Given the description of an element on the screen output the (x, y) to click on. 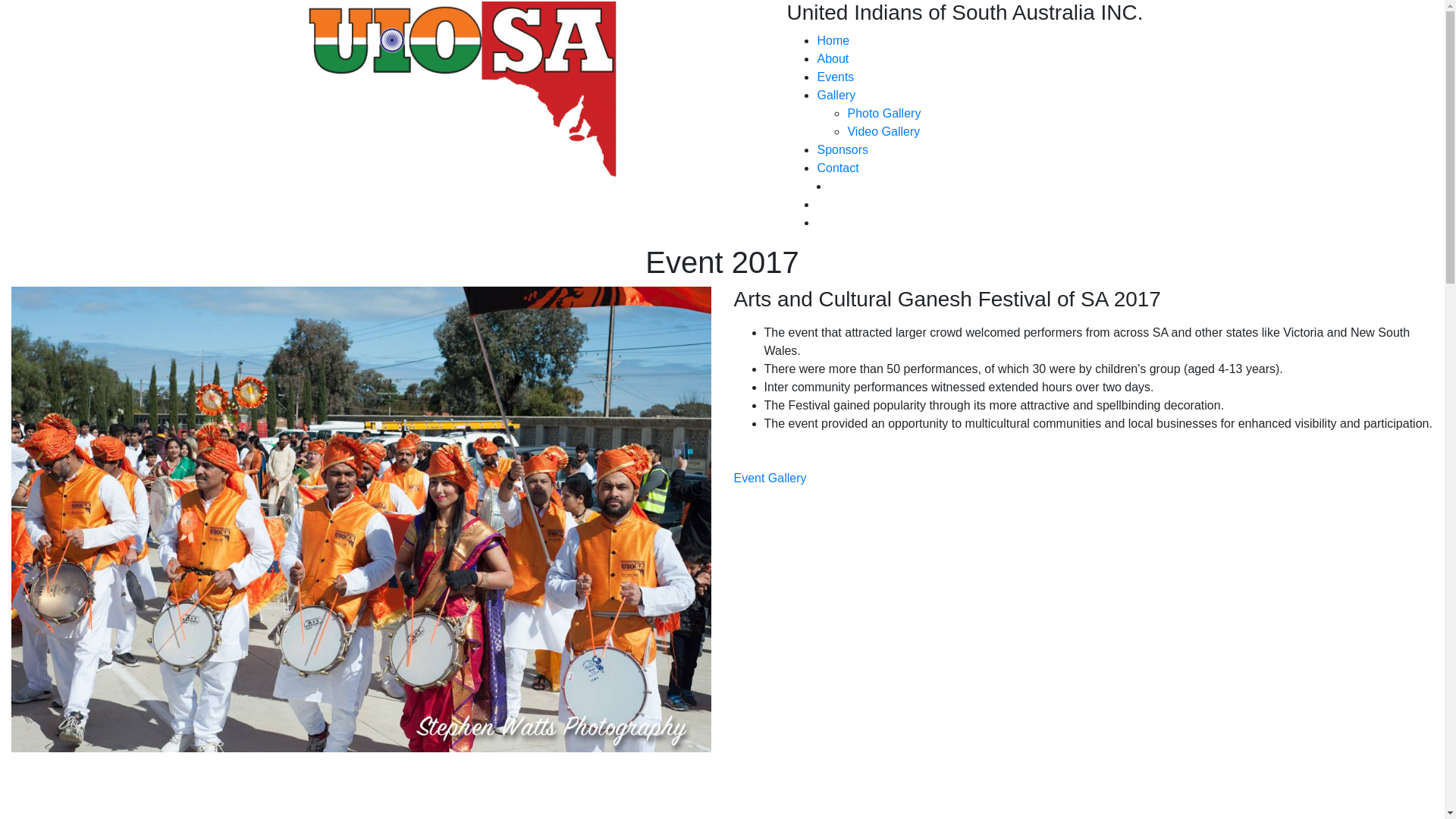
Photo Gallery Element type: text (883, 112)
Video Gallery Element type: text (883, 131)
Gallery Element type: text (835, 94)
About Element type: text (832, 58)
Contact Element type: text (837, 167)
Event Gallery Element type: text (770, 477)
Home Element type: text (832, 40)
Events Element type: text (834, 76)
Sponsors Element type: text (842, 149)
